Given the description of an element on the screen output the (x, y) to click on. 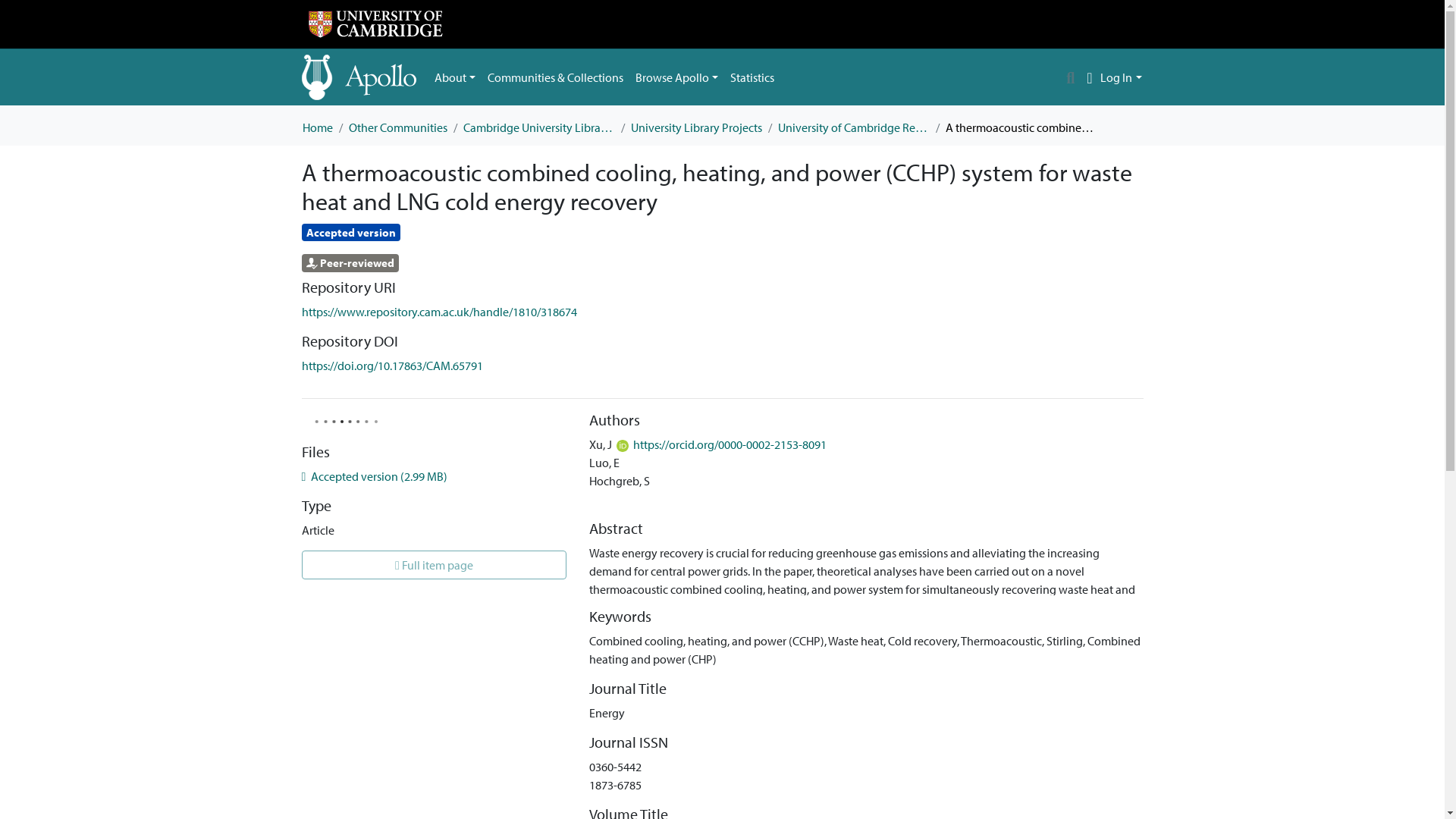
Search (1070, 76)
Other Communities (397, 126)
Log In (1120, 77)
Language switch (1089, 76)
Browse Apollo (675, 77)
Statistics (751, 77)
Cambridge University Libraries (538, 126)
Home (316, 126)
Statistics (751, 77)
About (454, 77)
University Library Projects (695, 126)
Full item page (434, 564)
